Given the description of an element on the screen output the (x, y) to click on. 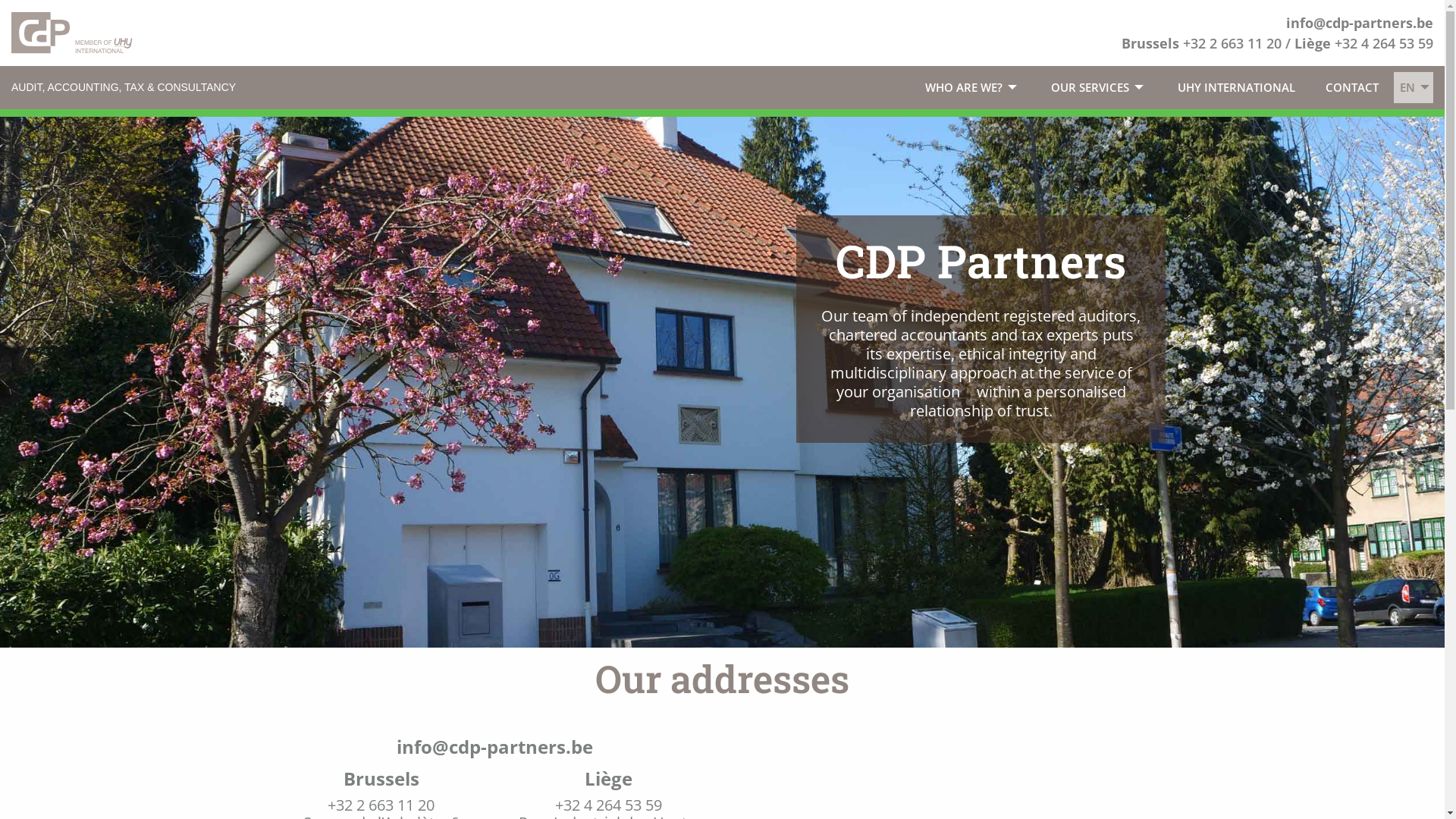
+32 2 663 11 20 Element type: text (380, 804)
+32 2 663 11 20 Element type: text (1232, 43)
UHY INTERNATIONAL Element type: text (1236, 87)
EN Element type: text (1416, 87)
CONTACT Element type: text (1351, 87)
info@cdp-partners.be Element type: text (494, 746)
CDP Partners Element type: hover (71, 31)
info@cdp-partners.be Element type: text (1359, 22)
+32 4 264 53 59 Element type: text (1383, 43)
+32 4 264 53 59 Element type: text (608, 804)
WHO ARE WE? Element type: text (972, 87)
OUR SERVICES Element type: text (1099, 87)
